Given the description of an element on the screen output the (x, y) to click on. 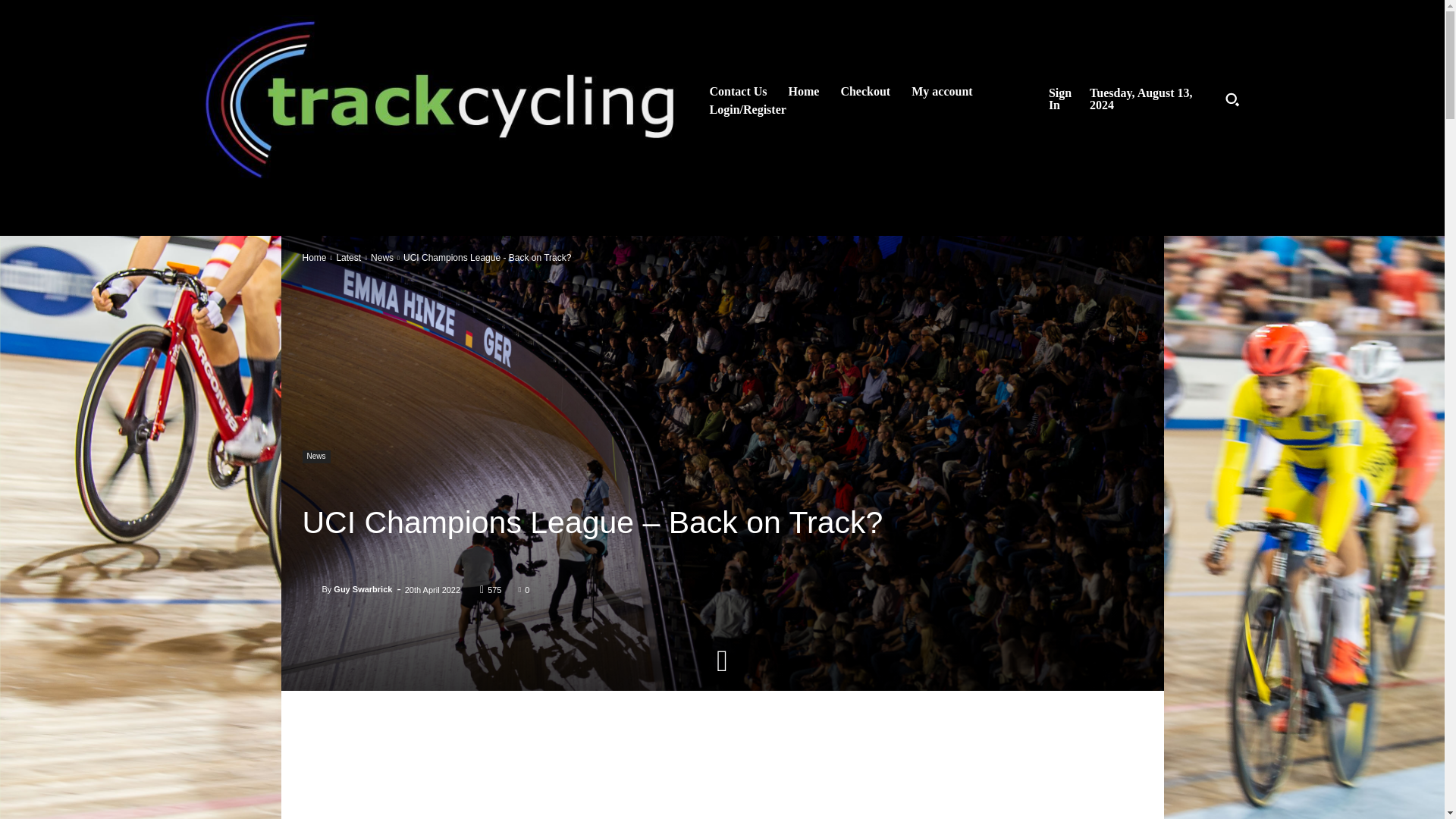
Contact Us (737, 91)
View all posts in Latest (348, 257)
News (382, 257)
Home (803, 91)
News (315, 456)
Home (313, 257)
Checkout (865, 91)
Sign In (1064, 98)
View all posts in News (382, 257)
My account (941, 91)
